Given the description of an element on the screen output the (x, y) to click on. 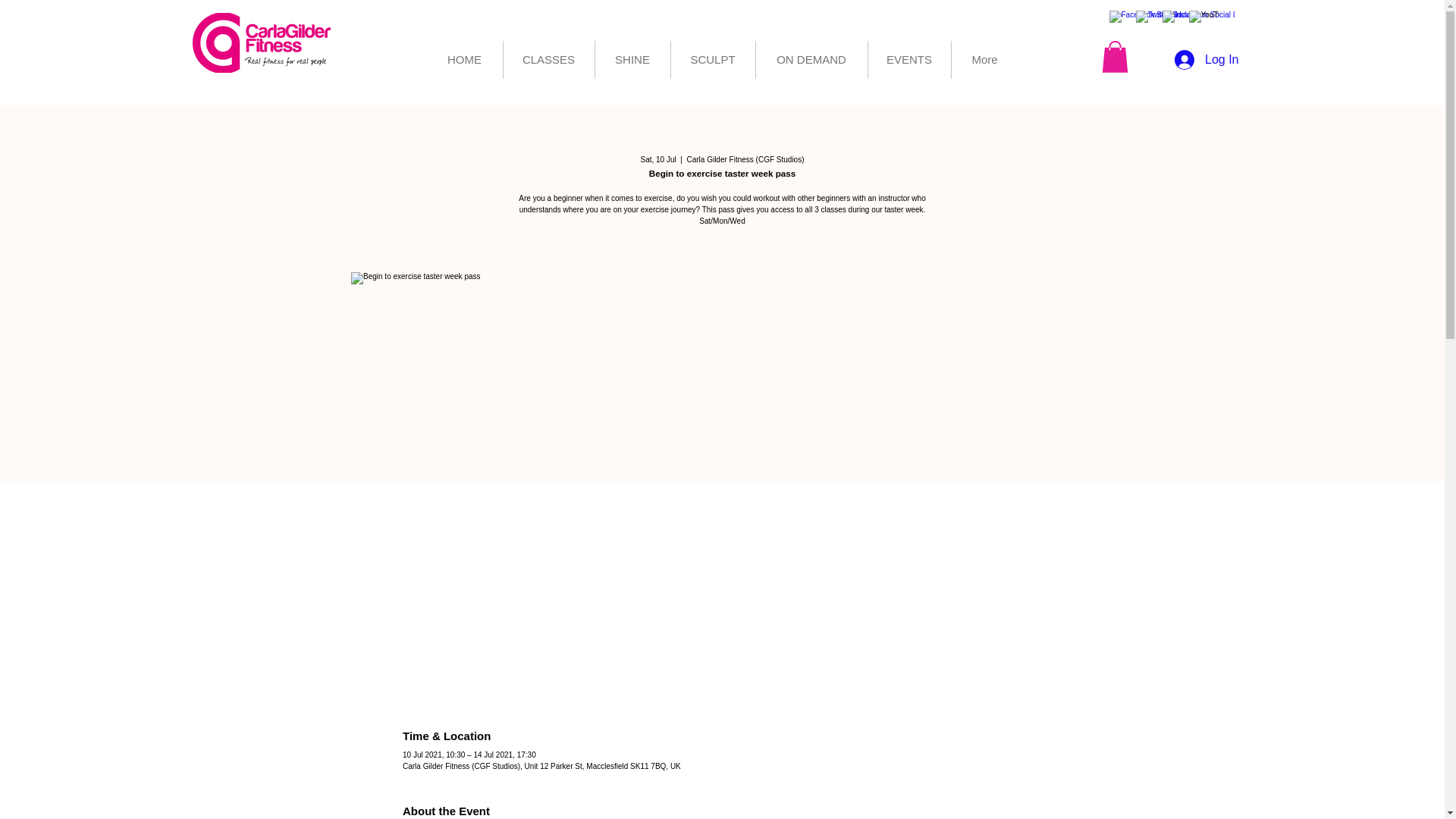
HOME (464, 59)
EVENTS (908, 59)
SHINE (631, 59)
SCULPT (711, 59)
Log In (1206, 59)
ON DEMAND (810, 59)
CLASSES (548, 59)
